Given the description of an element on the screen output the (x, y) to click on. 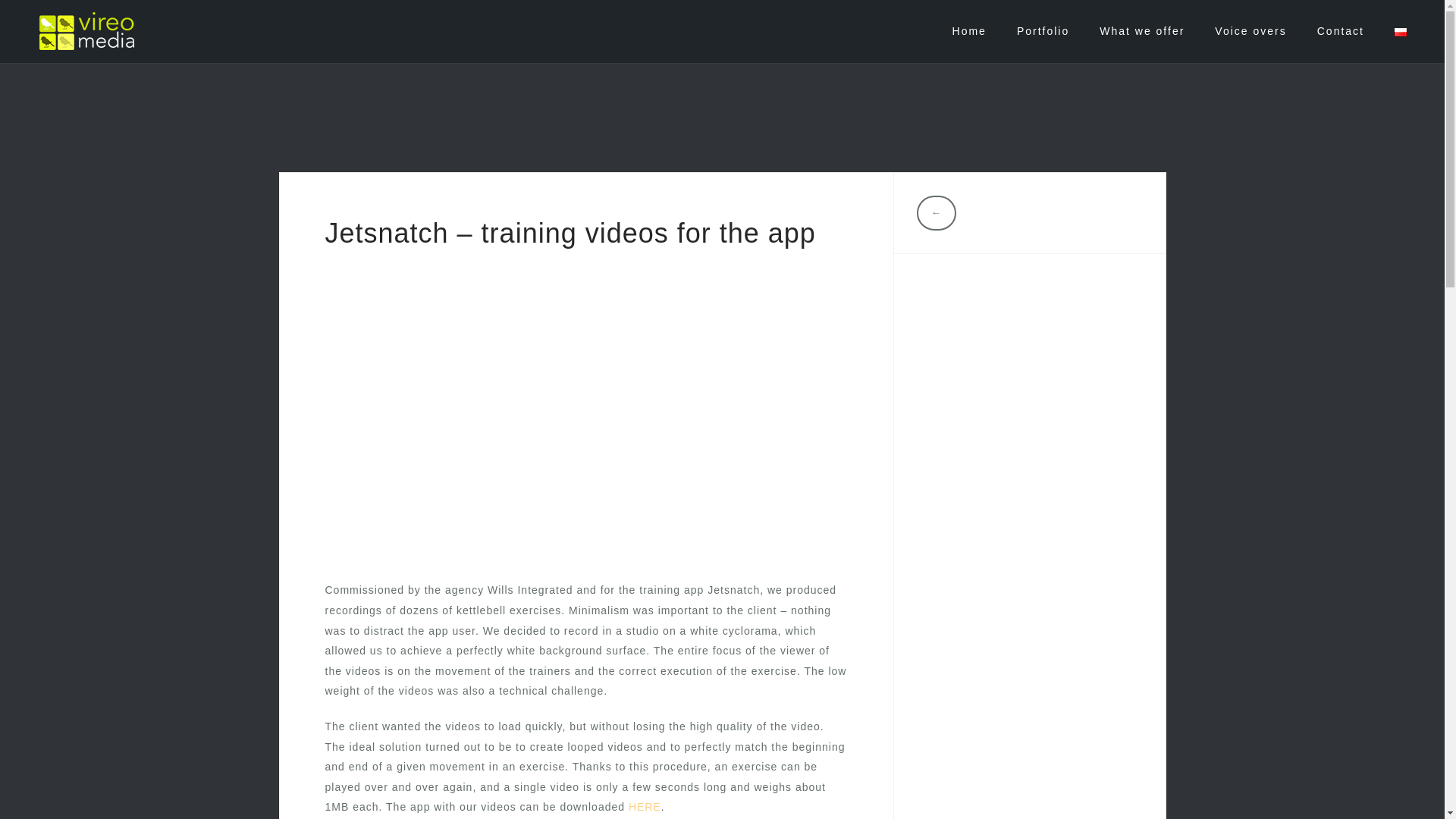
Portfolio (1042, 31)
What we offer (1142, 31)
HERE (644, 806)
Voice overs (1249, 31)
Home (969, 31)
Contact (1340, 31)
